Given the description of an element on the screen output the (x, y) to click on. 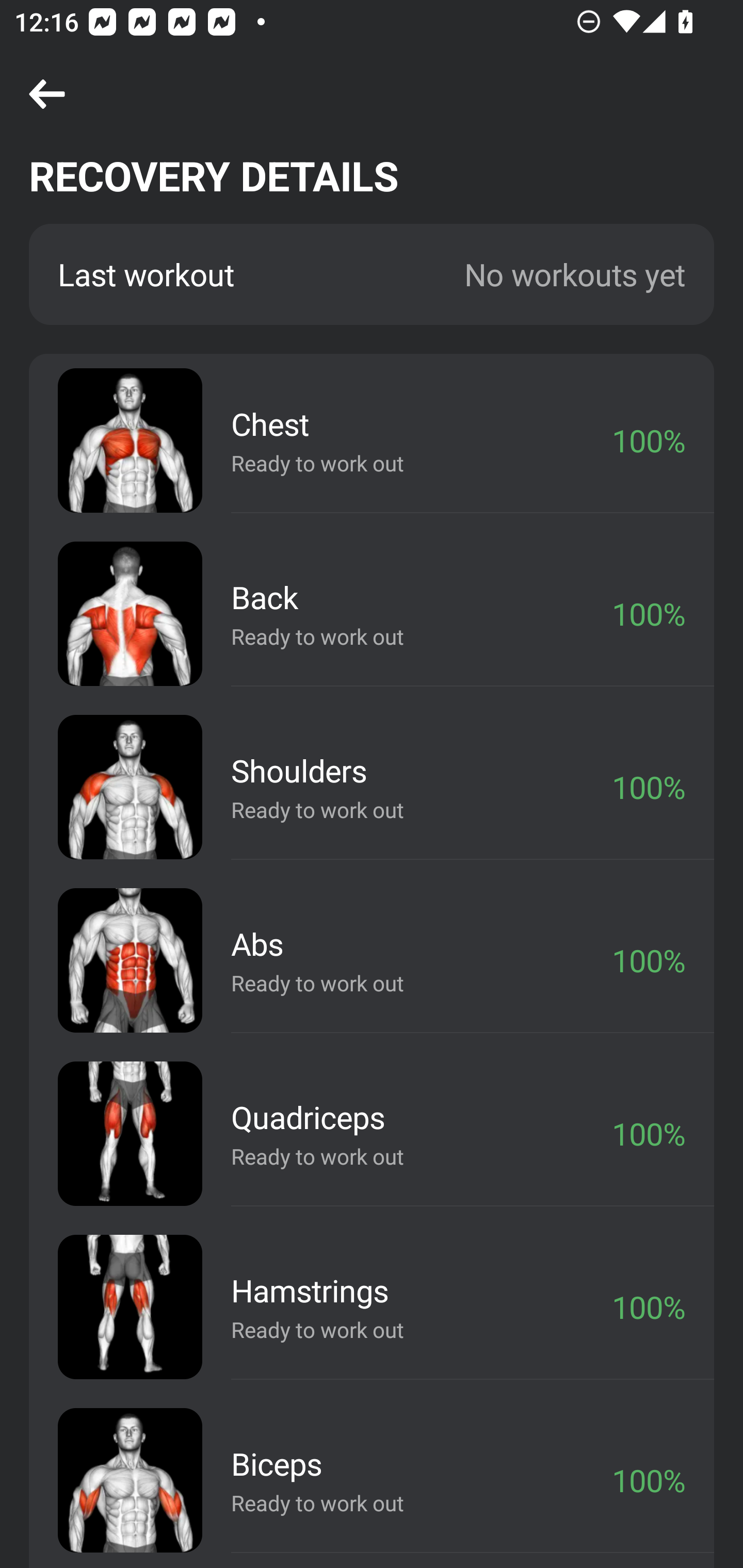
Navigation icon (46, 94)
